Given the description of an element on the screen output the (x, y) to click on. 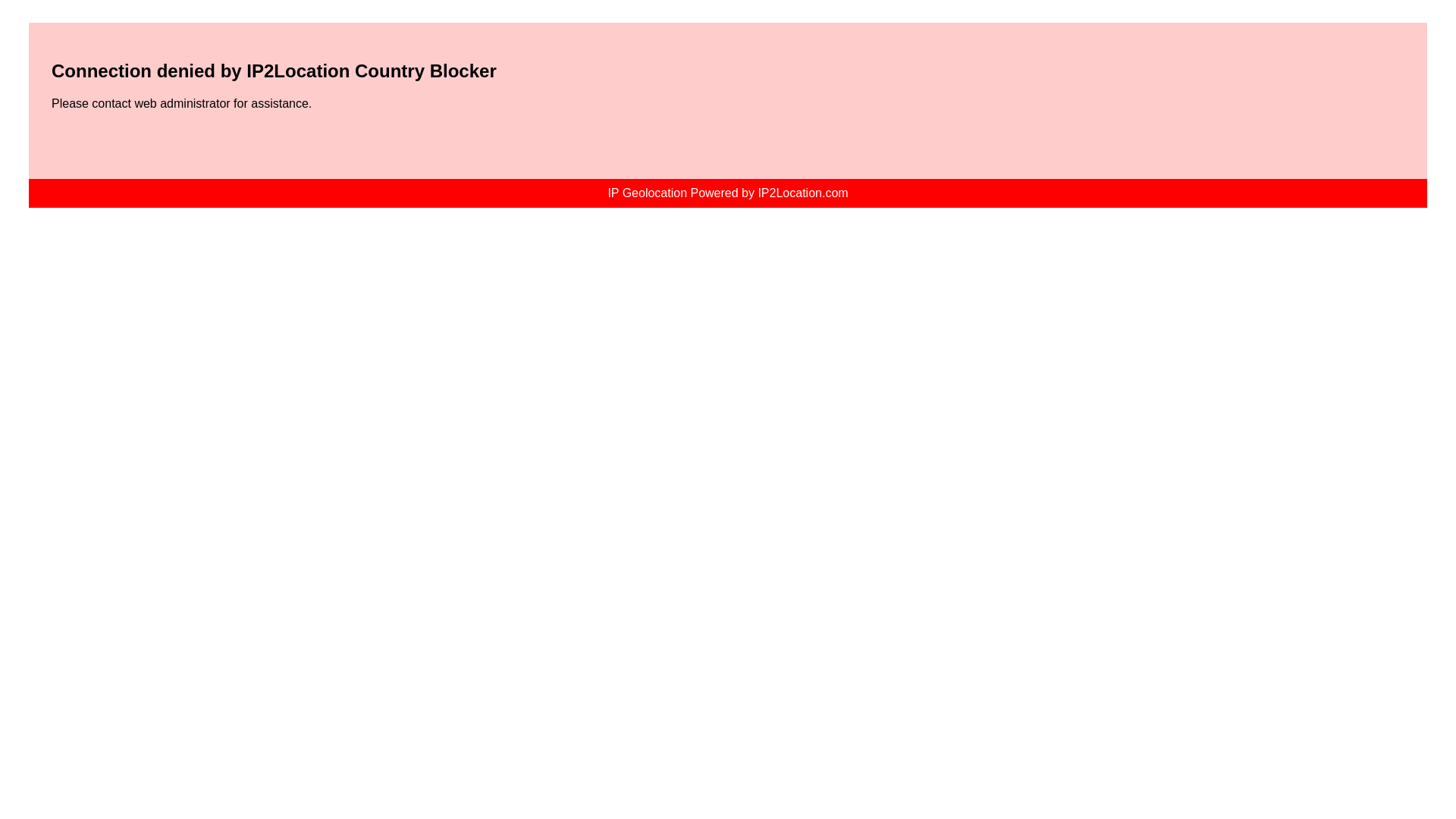
IP Geolocation Powered by IP2Location.com (727, 192)
